Given the description of an element on the screen output the (x, y) to click on. 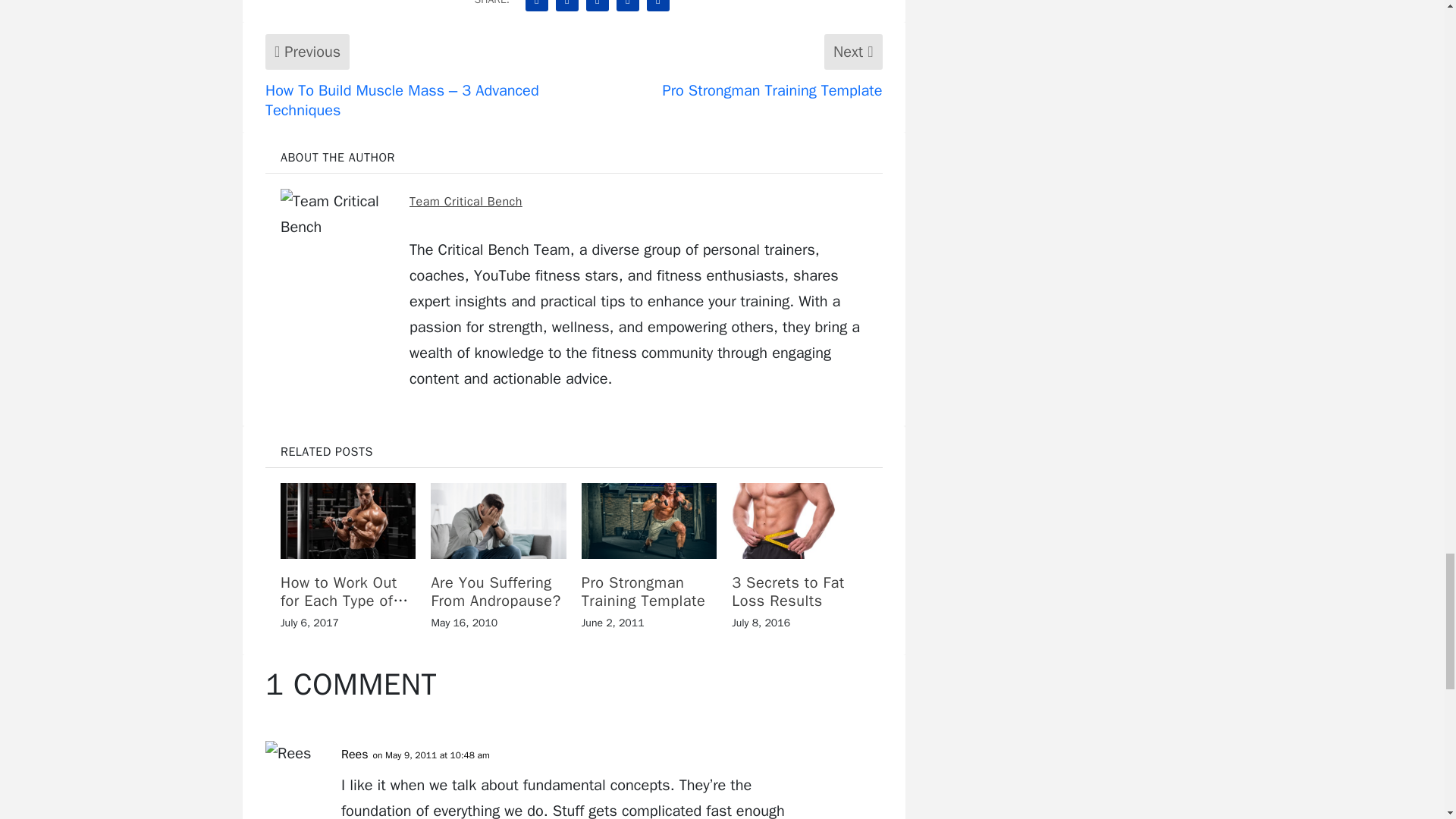
How to Work Out for Each Type of Muscle Fiber (347, 520)
3 Secrets to Fat Loss Results (799, 520)
Are You Suffering From Andropause? (498, 520)
Pro Strongman Training Template (648, 520)
View all posts by Team Critical Bench (465, 201)
